Given the description of an element on the screen output the (x, y) to click on. 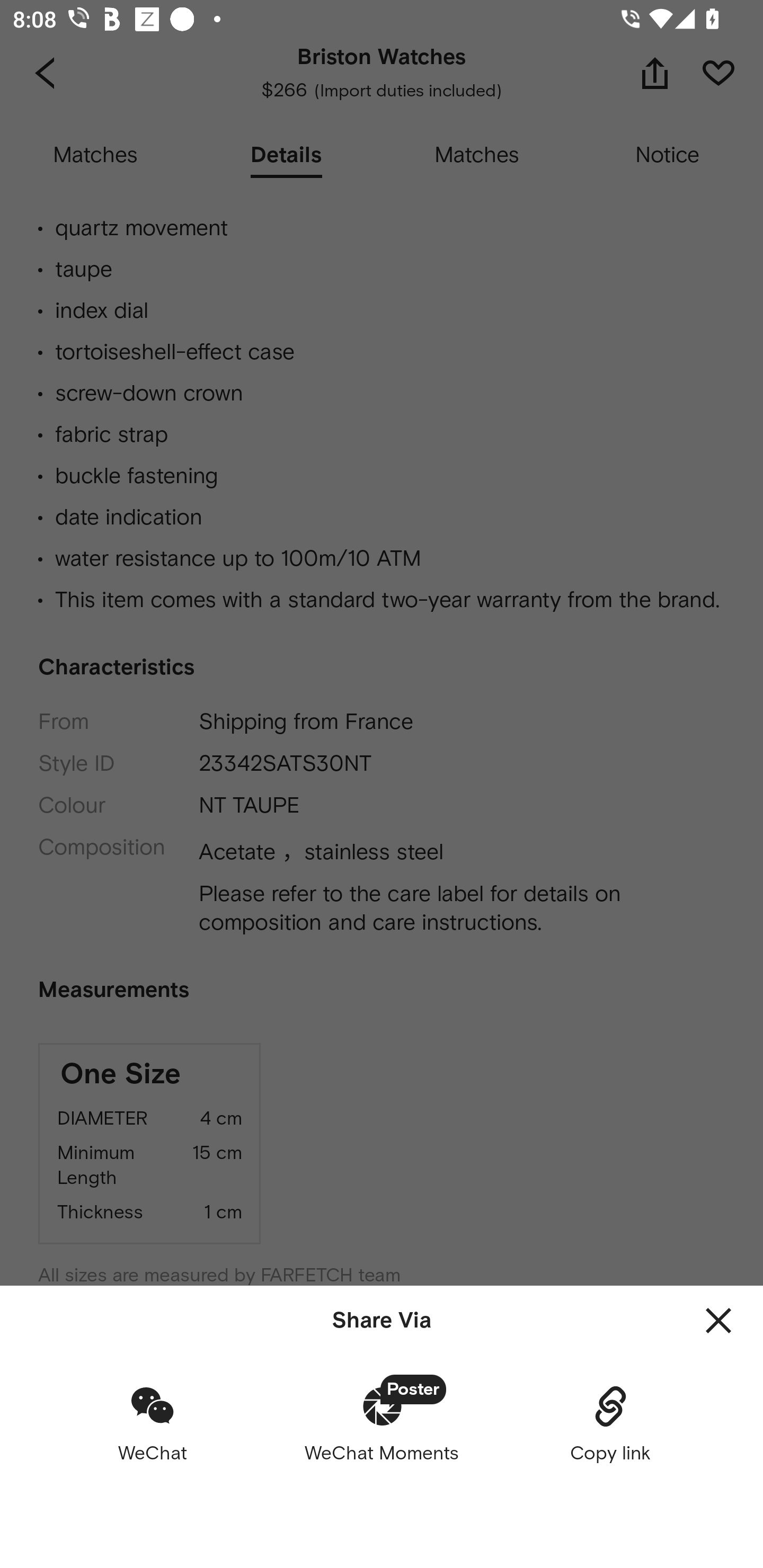
WeChat (152, 1423)
WeChat Moments Poster (381, 1423)
Copy link (609, 1423)
